Given the description of an element on the screen output the (x, y) to click on. 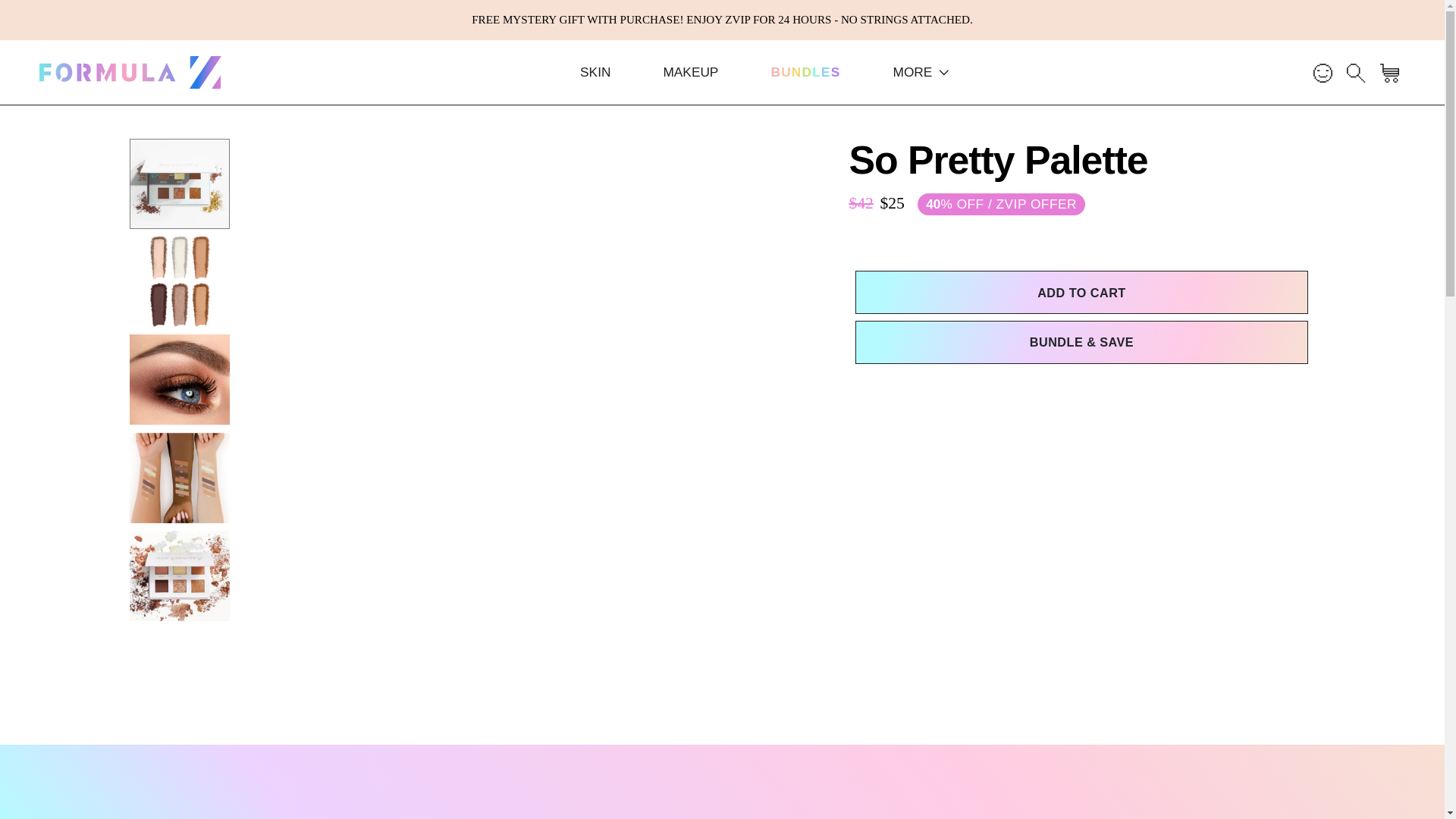
ADD TO CART (1081, 292)
SKIN (594, 72)
Bundles (805, 72)
More (920, 72)
MORE (920, 72)
Skin (594, 72)
MAKEUP (805, 72)
Makeup (689, 72)
